Given the description of an element on the screen output the (x, y) to click on. 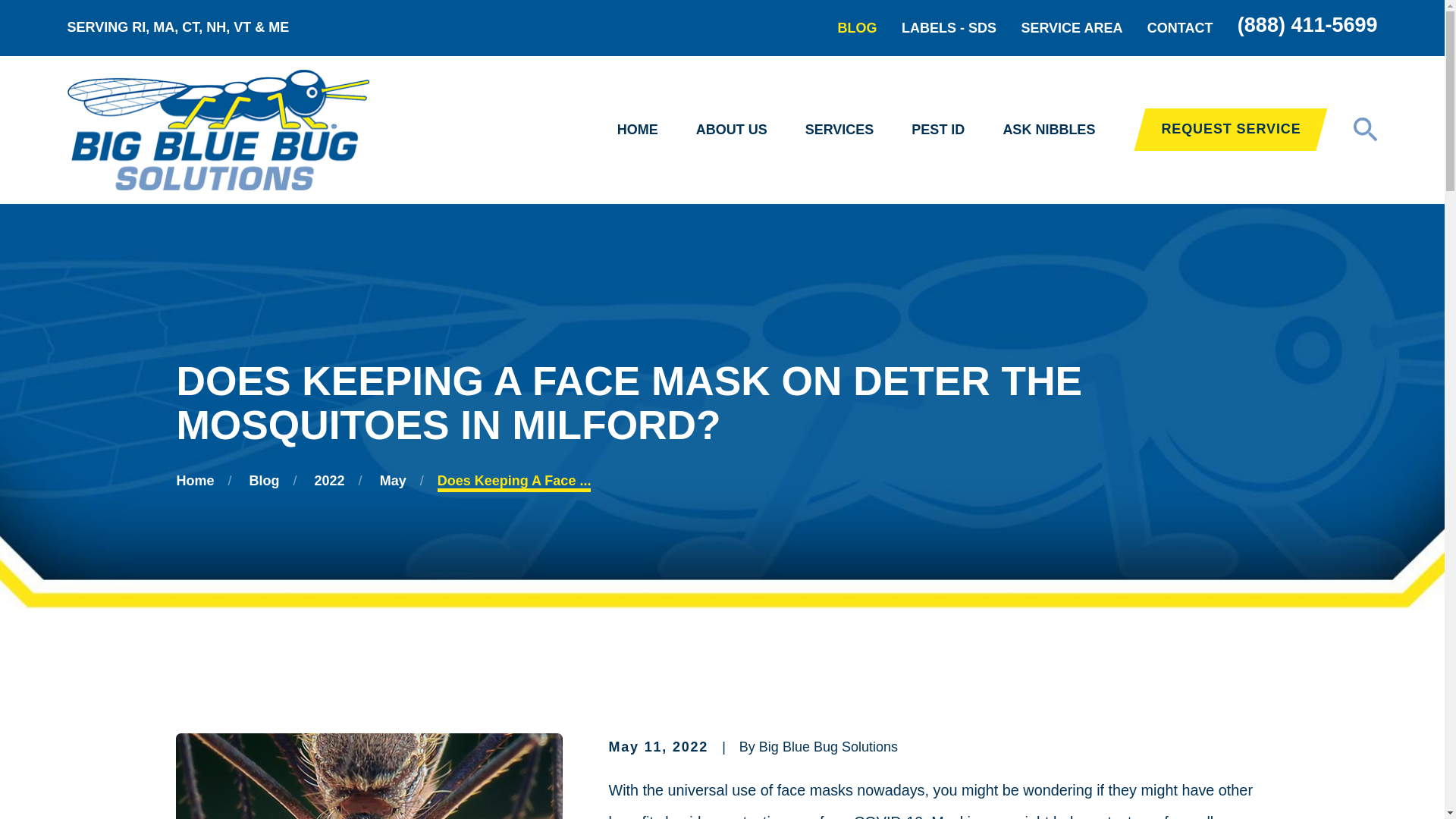
PEST ID (937, 129)
BLOG (857, 28)
CONTACT (1179, 28)
HOME (637, 129)
LABELS - SDS (948, 28)
Go Home (195, 480)
SERVICES (840, 129)
SERVICE AREA (1071, 28)
Home (217, 129)
ABOUT US (731, 129)
